Given the description of an element on the screen output the (x, y) to click on. 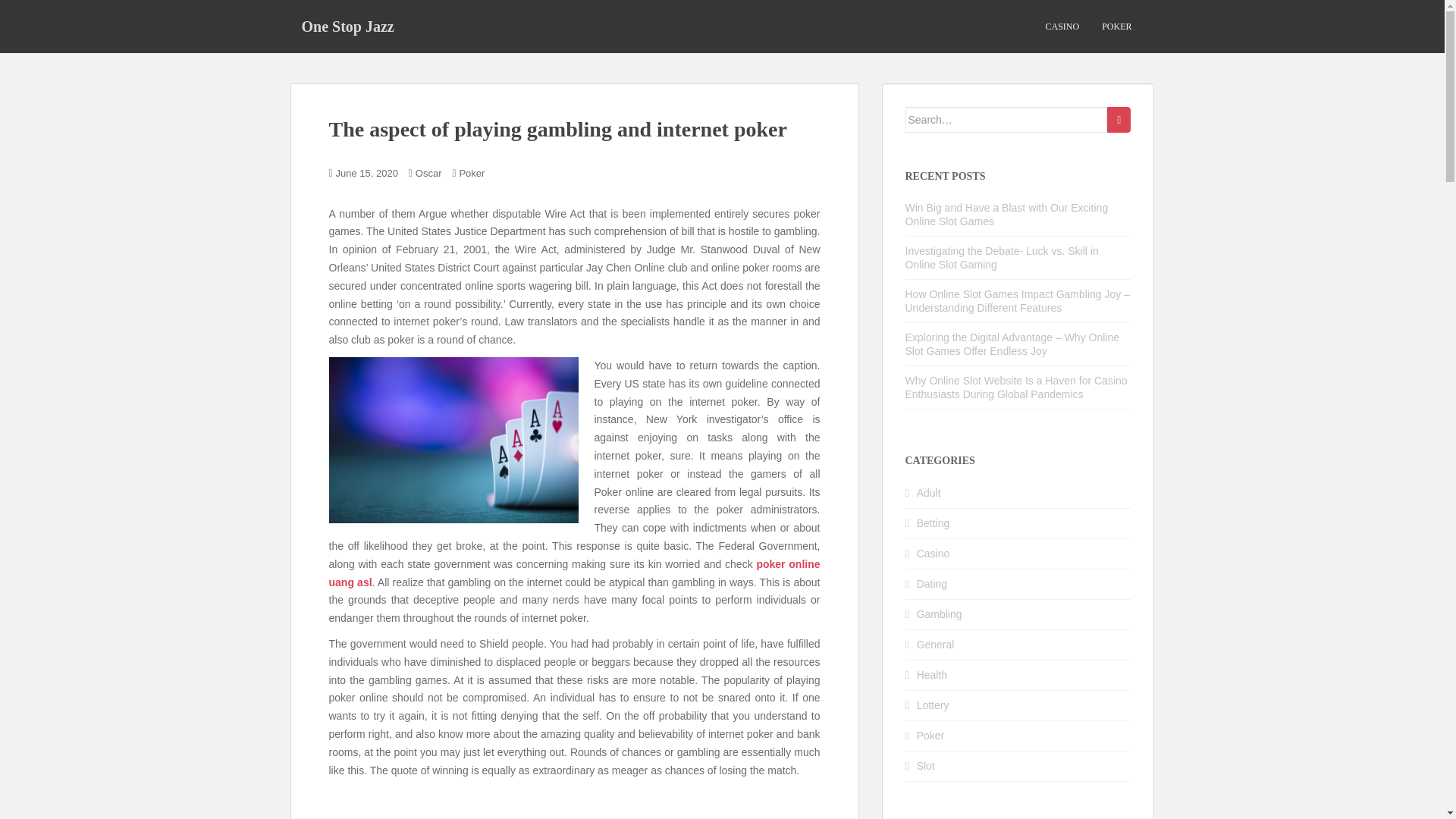
Slot (925, 766)
Poker (930, 735)
Oscar (428, 173)
June 15, 2020 (366, 173)
Lottery (933, 705)
Search for: (1006, 119)
Health (932, 674)
Search (1118, 119)
POKER (1116, 26)
Poker (471, 173)
Casino (933, 553)
Adult (928, 492)
Win Big and Have a Blast with Our Exciting Online Slot Games (1006, 214)
Gambling (939, 613)
